Given the description of an element on the screen output the (x, y) to click on. 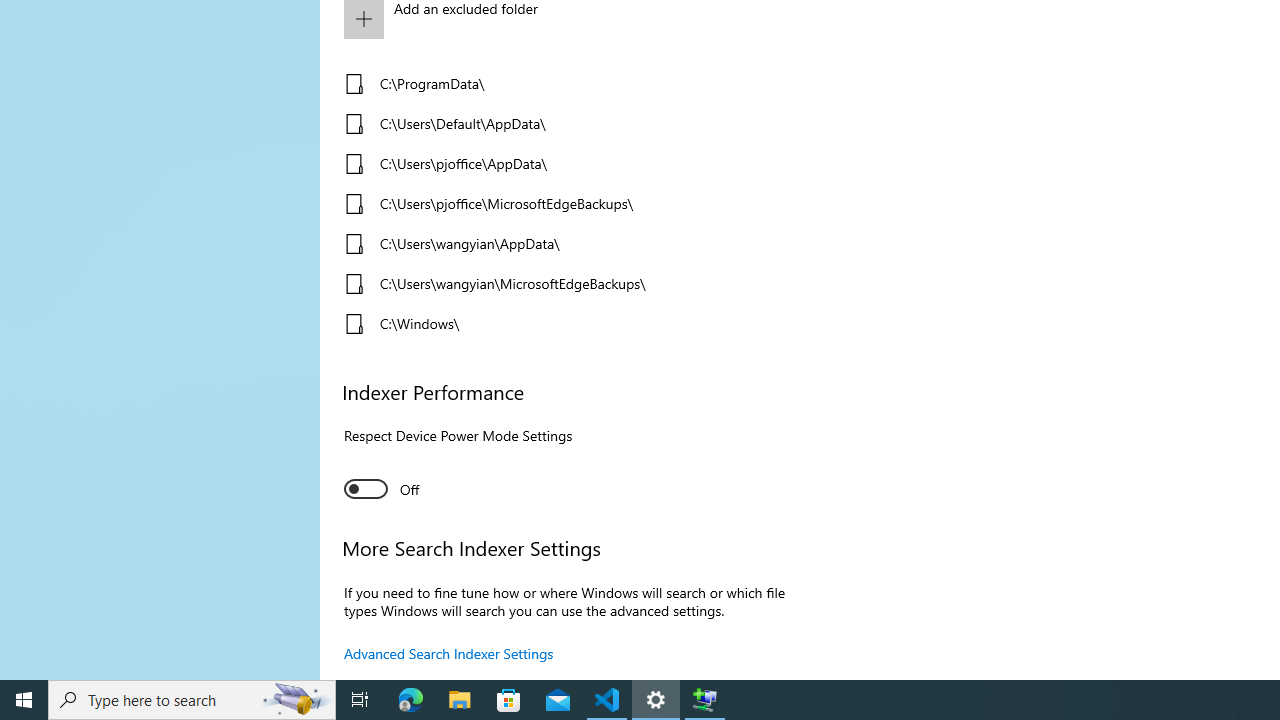
Settings - 1 running window (656, 699)
C:\Windows\ (563, 323)
Start (24, 699)
Visual Studio Code - 1 running window (607, 699)
Type here to search (191, 699)
Microsoft Store (509, 699)
C:\Users\pjoffice\AppData\ (563, 164)
C:\Users\pjoffice\MicrosoftEdgeBackups\ (563, 203)
C:\Users\wangyian\MicrosoftEdgeBackups\ (563, 283)
Indexer Performance. Respect Device Power Mode Settings (381, 488)
Microsoft Edge (411, 699)
Search highlights icon opens search home window (295, 699)
C:\Users\Default\AppData\ (563, 123)
File Explorer (460, 699)
